Given the description of an element on the screen output the (x, y) to click on. 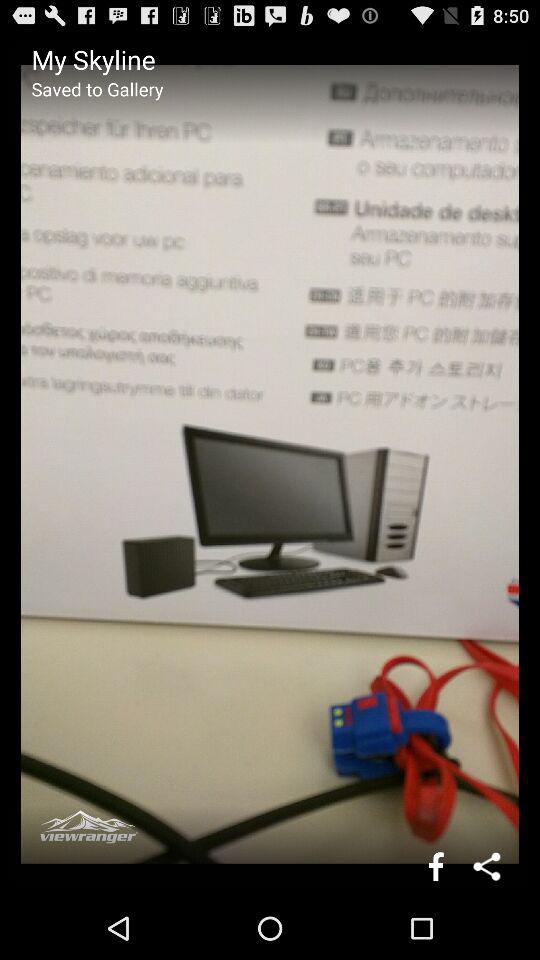
go to share (488, 866)
